Given the description of an element on the screen output the (x, y) to click on. 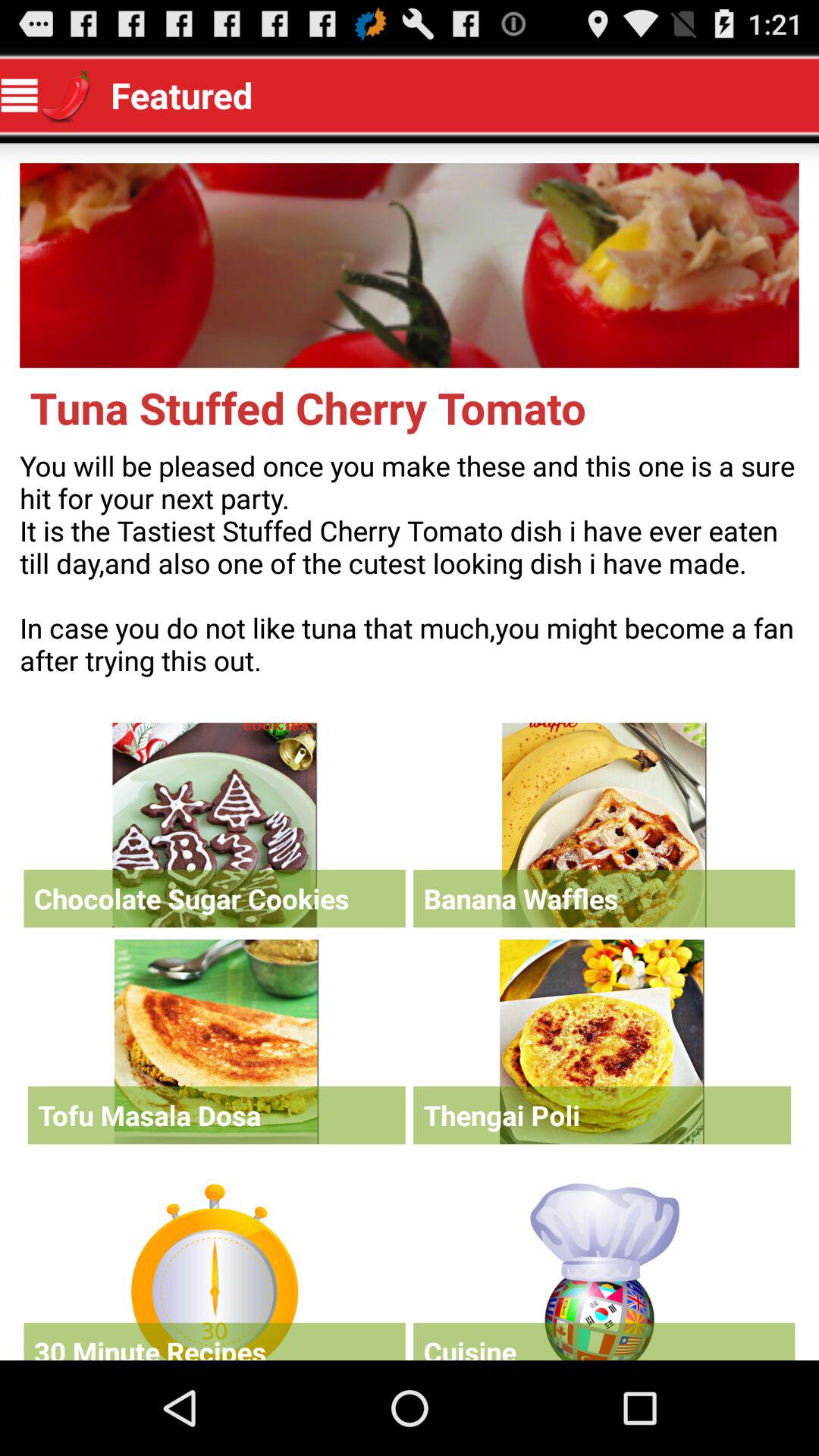
select recipe (604, 824)
